Given the description of an element on the screen output the (x, y) to click on. 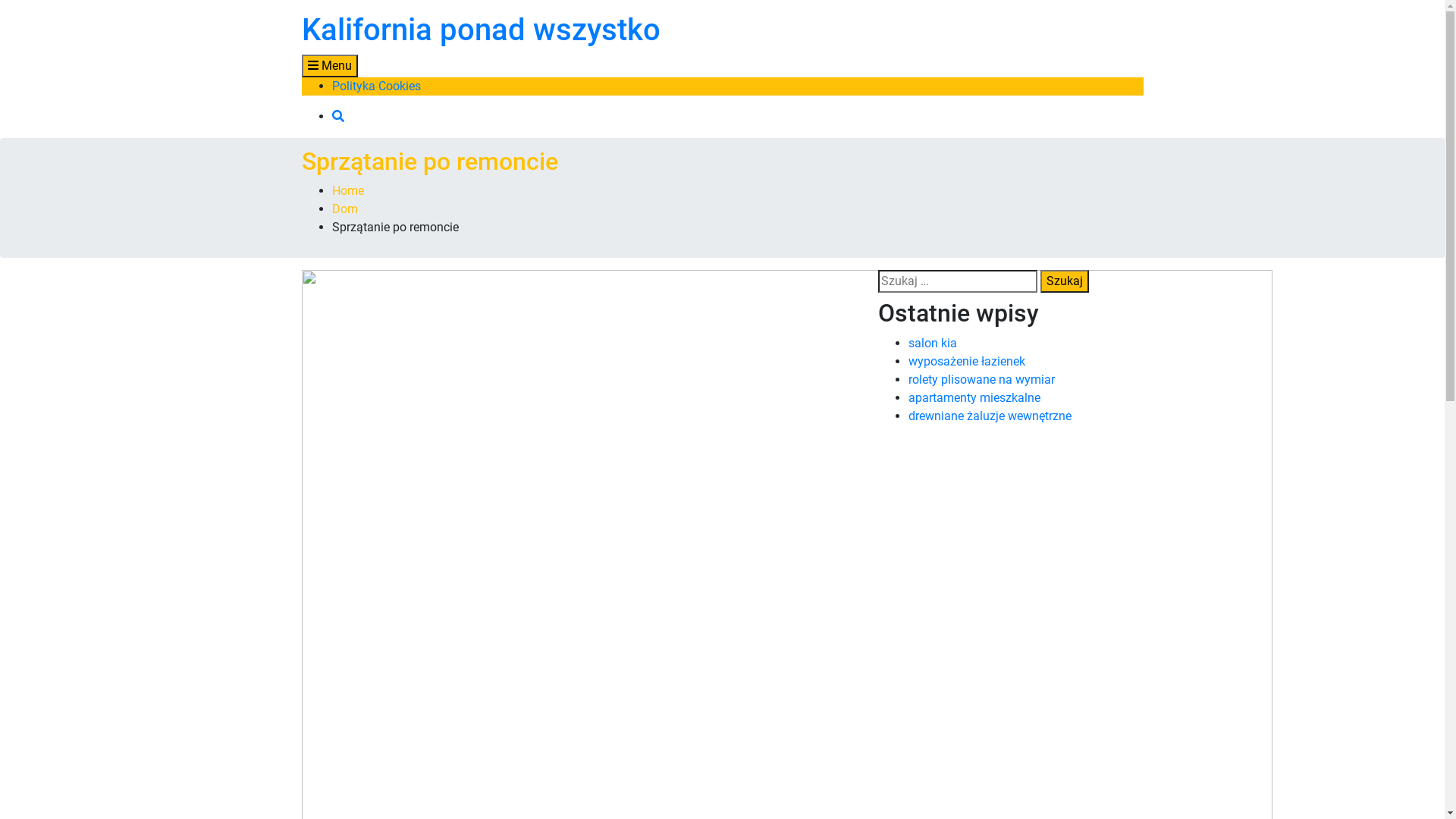
Dom Element type: text (344, 208)
apartamenty mieszkalne Element type: text (974, 397)
Szukaj Element type: text (1064, 280)
salon kia Element type: text (932, 342)
Kalifornia ponad wszystko Element type: text (480, 29)
rolety plisowane na wymiar Element type: text (981, 379)
Polityka Cookies Element type: text (376, 85)
Home Element type: text (348, 190)
Menu Element type: text (329, 65)
